Given the description of an element on the screen output the (x, y) to click on. 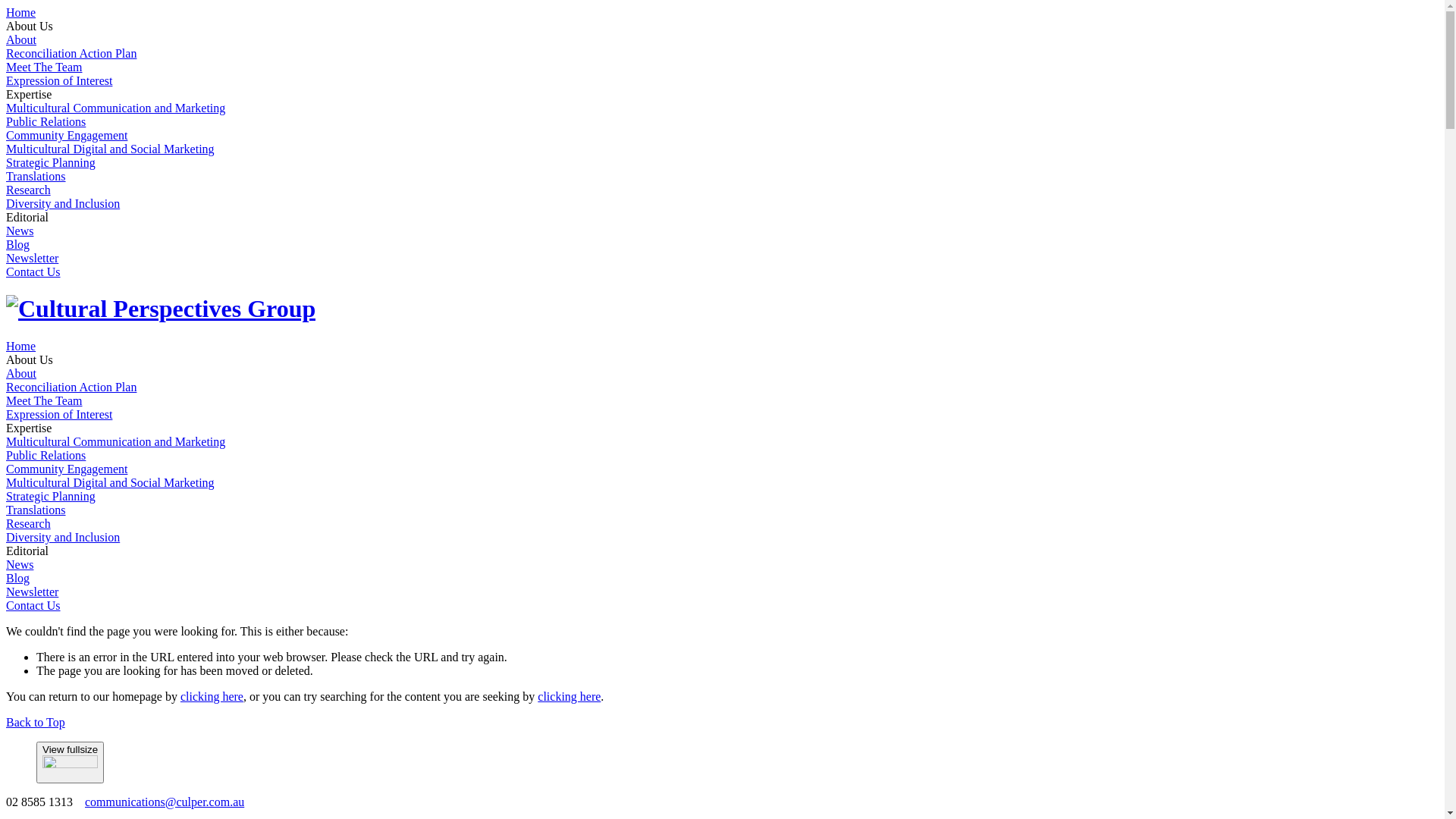
Newsletter Element type: text (32, 591)
News Element type: text (19, 564)
Contact Us Element type: text (33, 271)
Contact Us Element type: text (33, 605)
Back to Top Element type: text (35, 721)
View fullsize Element type: text (69, 762)
Multicultural Communication and Marketing Element type: text (115, 107)
Multicultural Communication and Marketing Element type: text (115, 441)
Blog Element type: text (17, 577)
Reconciliation Action Plan Element type: text (71, 386)
Diversity and Inclusion Element type: text (62, 203)
Expression of Interest Element type: text (59, 80)
Strategic Planning Element type: text (50, 495)
Reconciliation Action Plan Element type: text (71, 53)
Multicultural Digital and Social Marketing Element type: text (110, 148)
Home Element type: text (20, 12)
Multicultural Digital and Social Marketing Element type: text (110, 482)
Research Element type: text (28, 523)
News Element type: text (19, 230)
Home Element type: text (20, 345)
Community Engagement Element type: text (66, 134)
Newsletter Element type: text (32, 257)
Strategic Planning Element type: text (50, 162)
Diversity and Inclusion Element type: text (62, 536)
About Element type: text (21, 373)
Public Relations Element type: text (45, 454)
Community Engagement Element type: text (66, 468)
Public Relations Element type: text (45, 121)
Translations Element type: text (35, 175)
Expression of Interest Element type: text (59, 413)
Meet The Team Element type: text (43, 66)
communications@culper.com.au Element type: text (164, 801)
clicking here Element type: text (211, 696)
Translations Element type: text (35, 509)
About Element type: text (21, 39)
Blog Element type: text (17, 244)
Meet The Team Element type: text (43, 400)
clicking here Element type: text (568, 696)
Research Element type: text (28, 189)
